Given the description of an element on the screen output the (x, y) to click on. 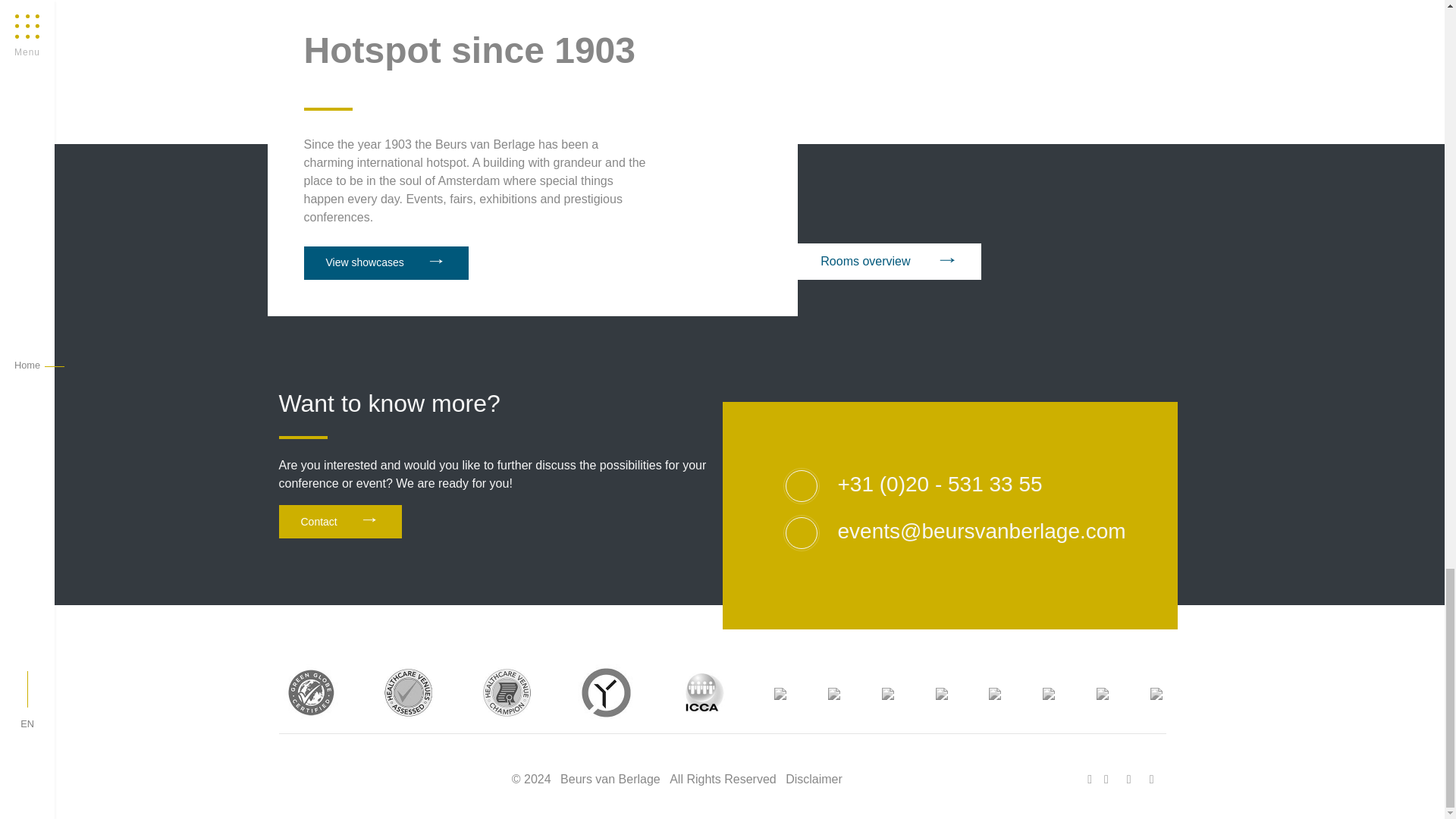
View showcases (384, 263)
Rooms overview (889, 261)
Contact (340, 521)
